Given the description of an element on the screen output the (x, y) to click on. 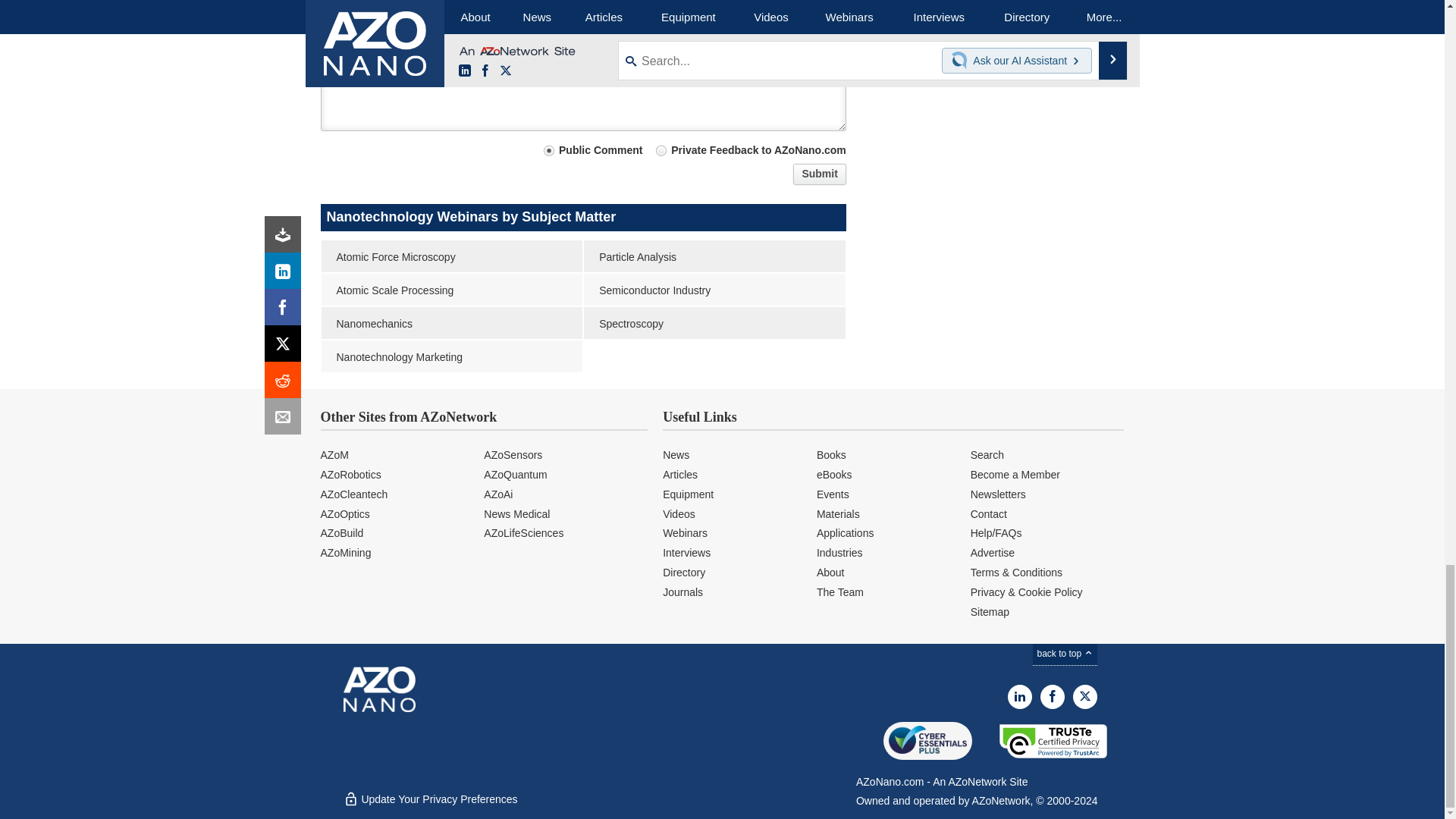
Semiconductor Industry (714, 289)
Spectroscopy (714, 323)
Nanotechnology Marketing (452, 356)
Atomic Scale Processing (452, 289)
Atomic Force Microscopy (452, 255)
Nanomechanics (452, 323)
Particle Analysis (714, 255)
